Given the description of an element on the screen output the (x, y) to click on. 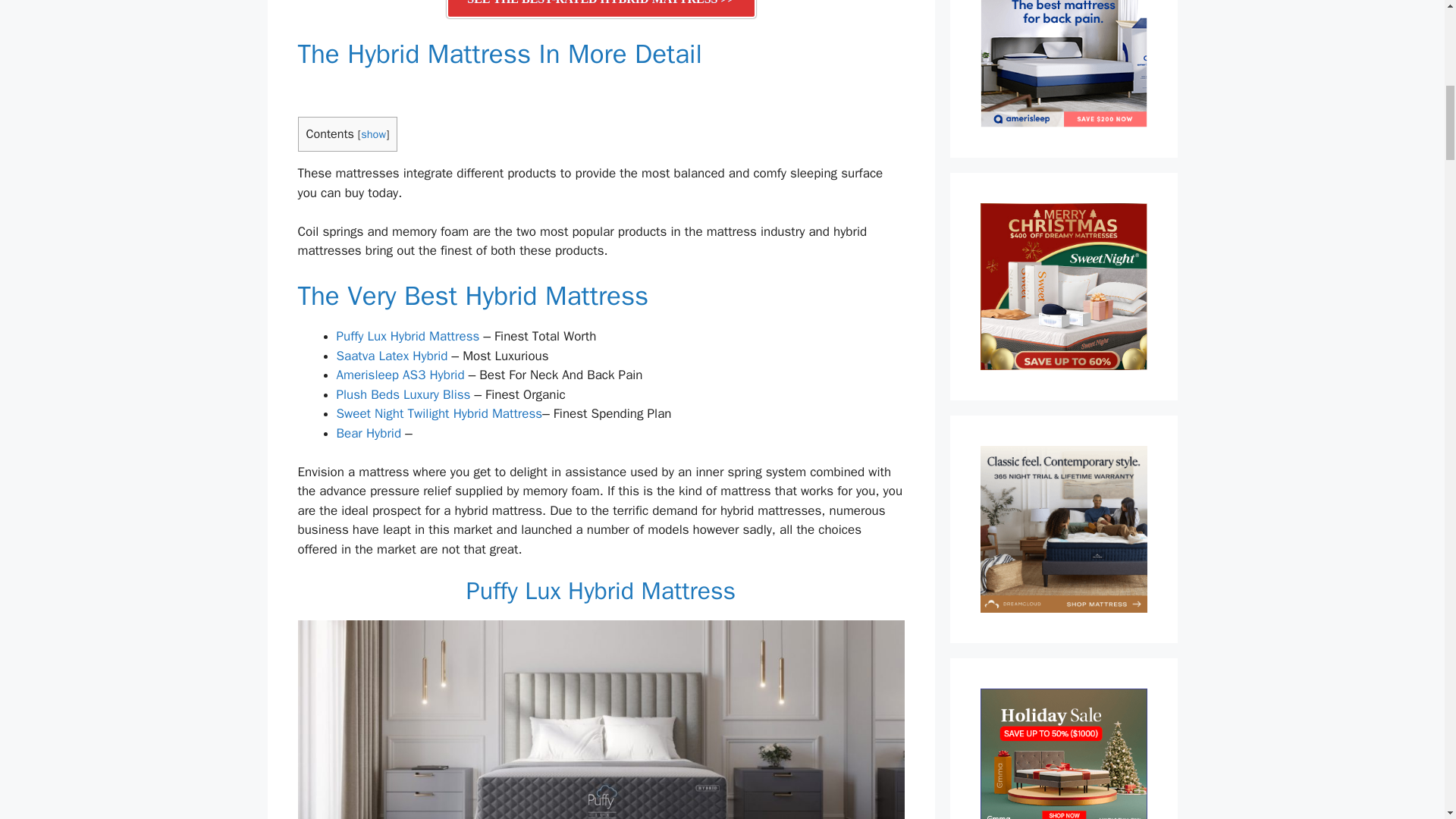
Amerisleep AS3 Hybrid (400, 374)
Sweet Night Twilight Hybrid Mattress (439, 413)
Bear Hybrid (368, 433)
Plush Beds Luxury Bliss (403, 394)
show (373, 133)
Puffy Lux Hybrid Mattress (408, 335)
Saatva Latex Hybrid (392, 355)
